Given the description of an element on the screen output the (x, y) to click on. 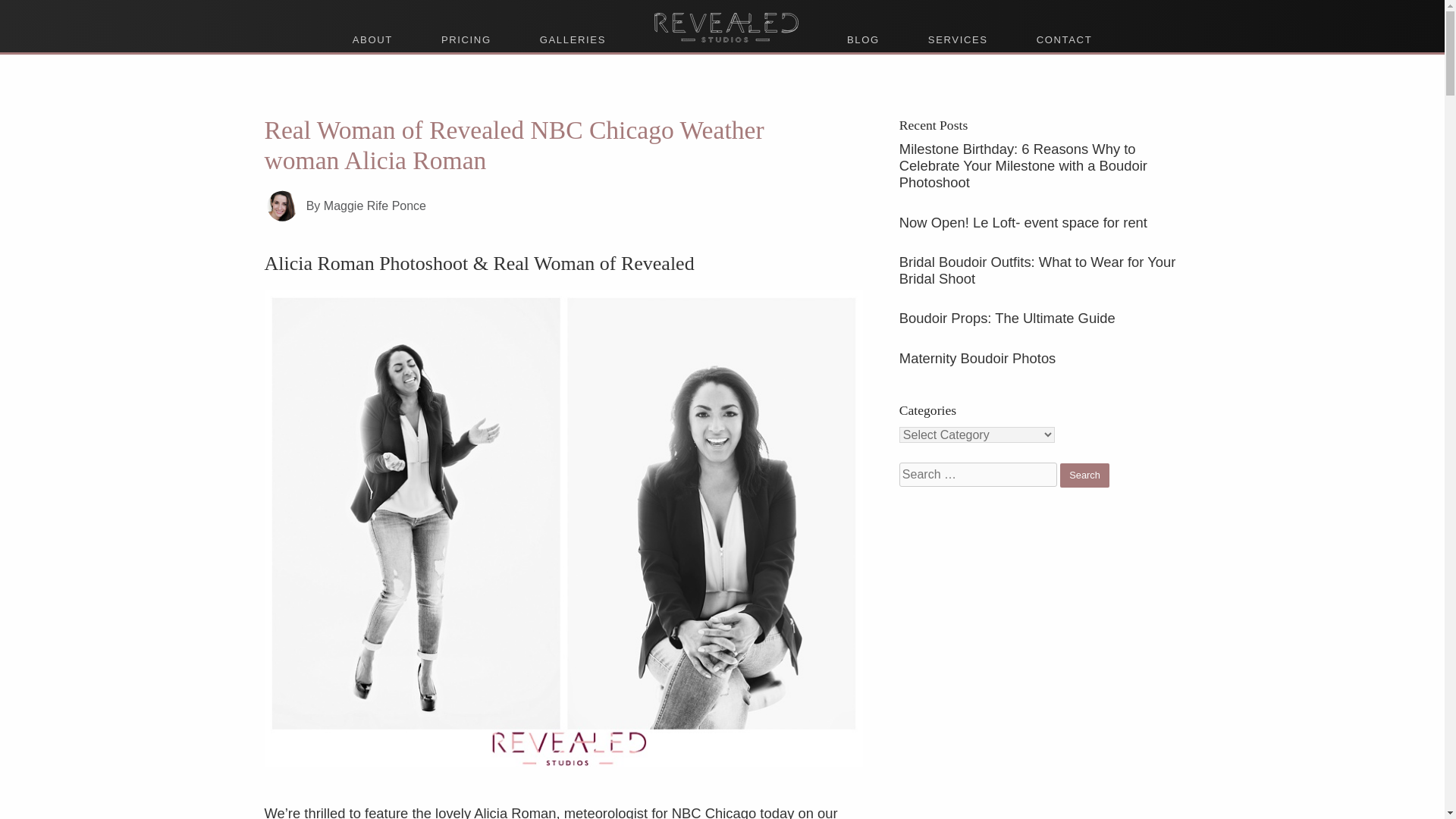
ABOUT (372, 39)
SERVICES (957, 39)
Search (1084, 475)
CONTACT (1063, 39)
Search (1084, 475)
BLOG (863, 39)
GALLERIES (572, 39)
Revealed Studios (725, 18)
PRICING (465, 39)
